Given the description of an element on the screen output the (x, y) to click on. 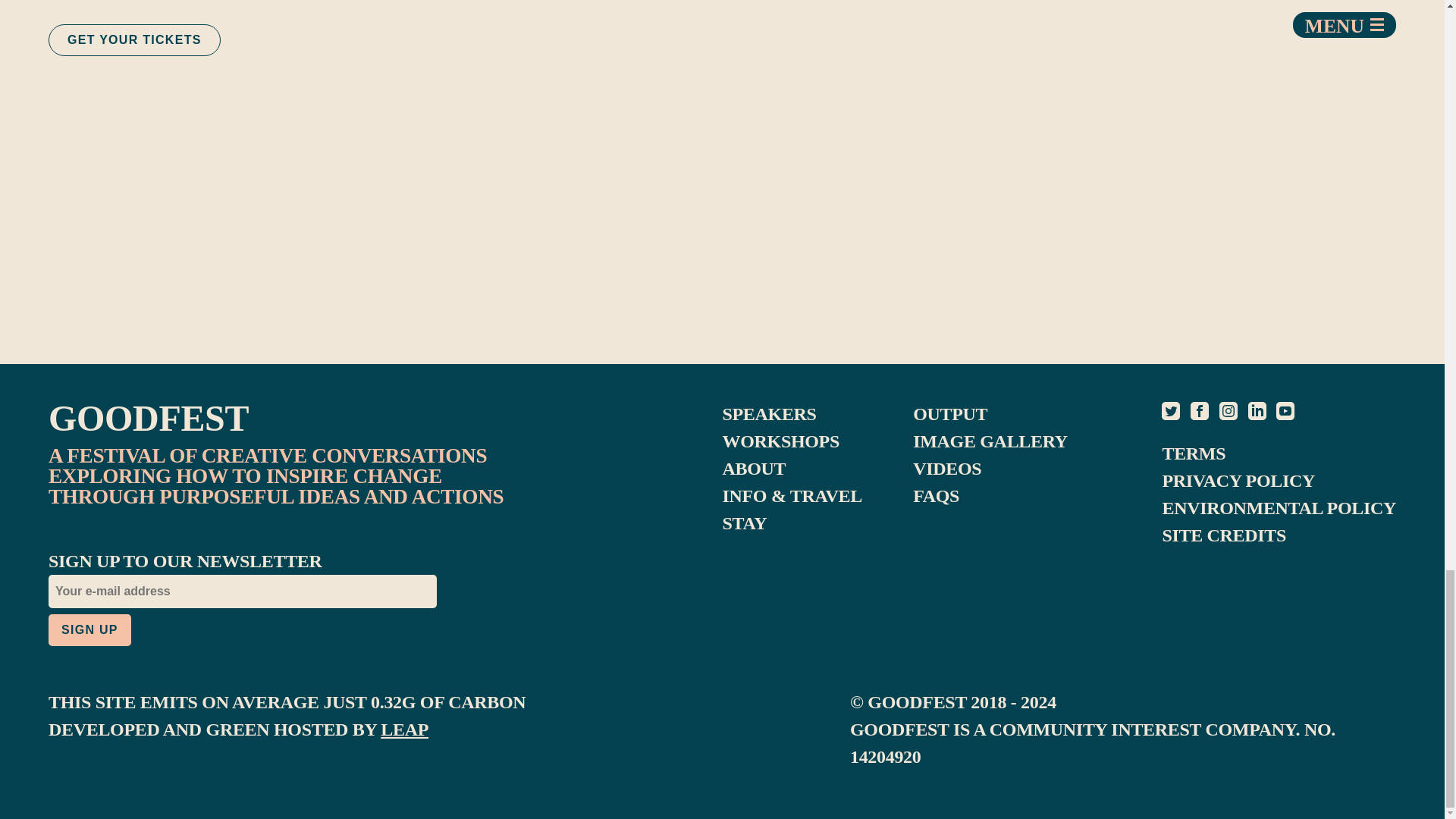
FAQS (935, 496)
Visit the Leap website (404, 729)
TERMS (1193, 453)
WORKSHOPS (780, 441)
ENVIRONMENTAL POLICY (1278, 507)
PRIVACY POLICY (1237, 480)
OUTPUT (949, 414)
ABOUT (754, 468)
SPEAKERS (768, 414)
IMAGE GALLERY (989, 441)
